Given the description of an element on the screen output the (x, y) to click on. 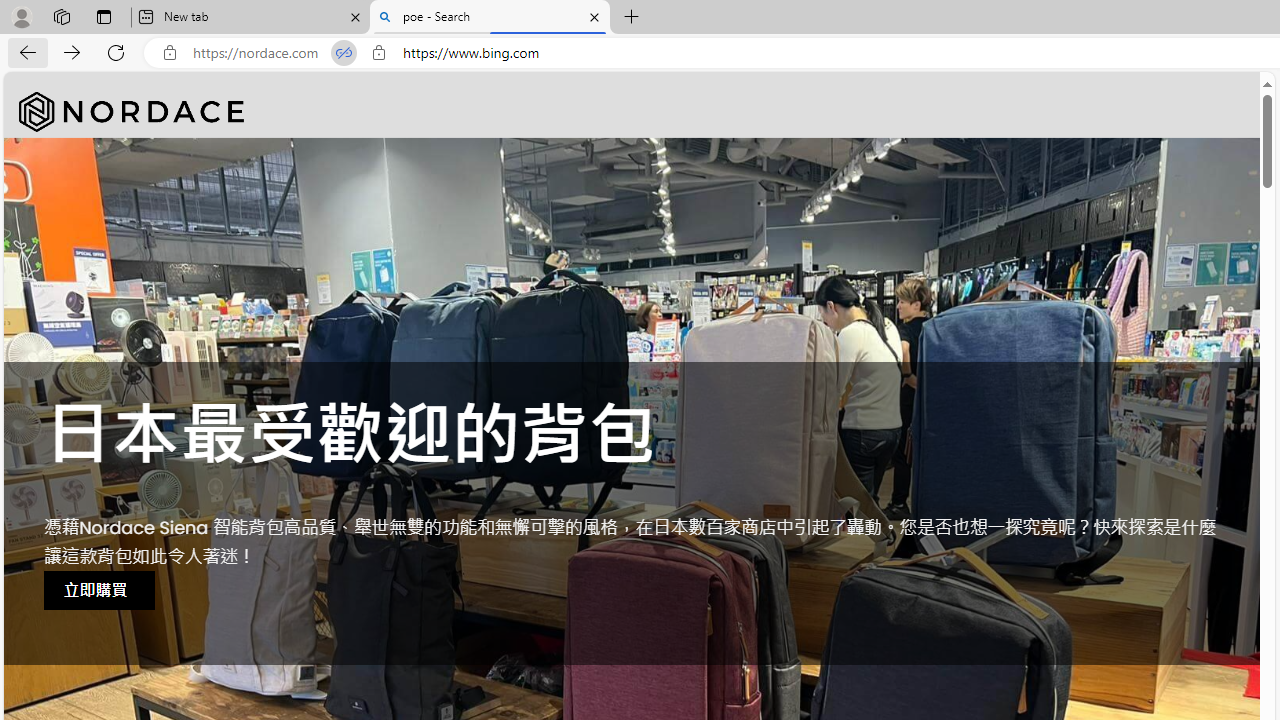
Tabs in split screen (344, 53)
Forward (72, 52)
poe - Search (490, 17)
